Given the description of an element on the screen output the (x, y) to click on. 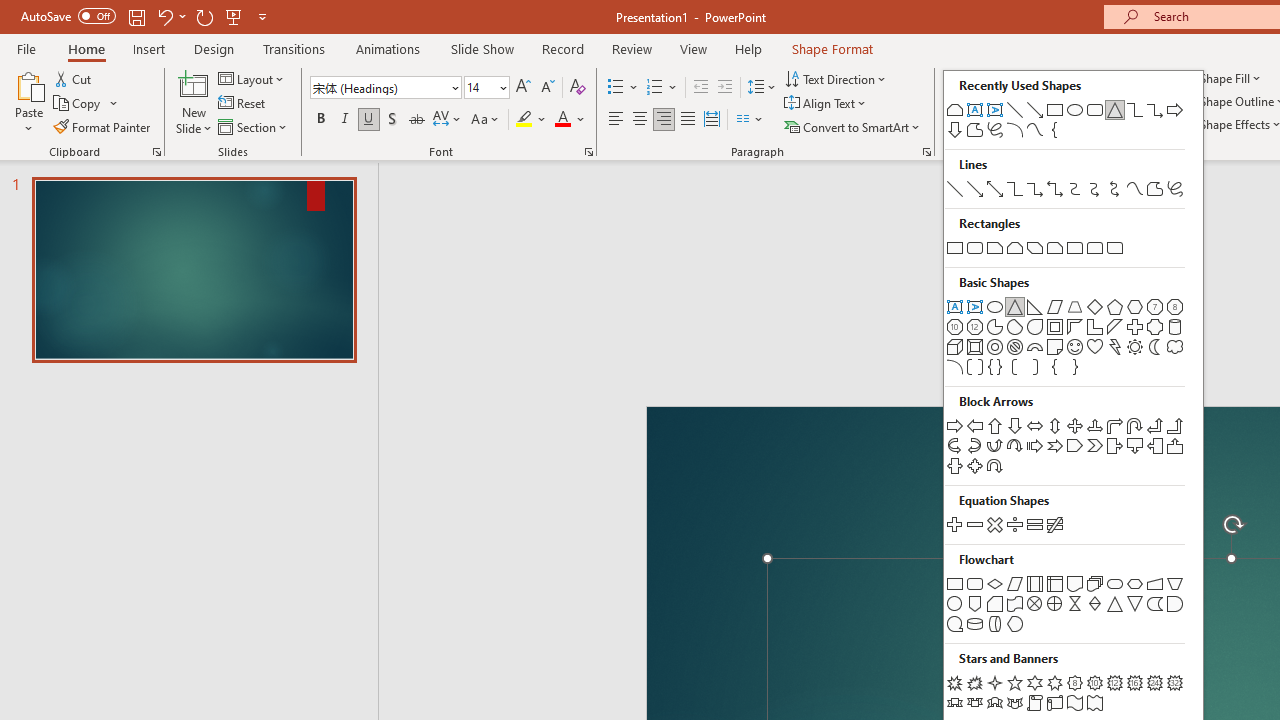
Office Clipboard... (156, 151)
Shadow (392, 119)
Convert to SmartArt (853, 126)
Text Highlight Color Yellow (524, 119)
Bold (320, 119)
Center (639, 119)
Font Color Red (562, 119)
